Given the description of an element on the screen output the (x, y) to click on. 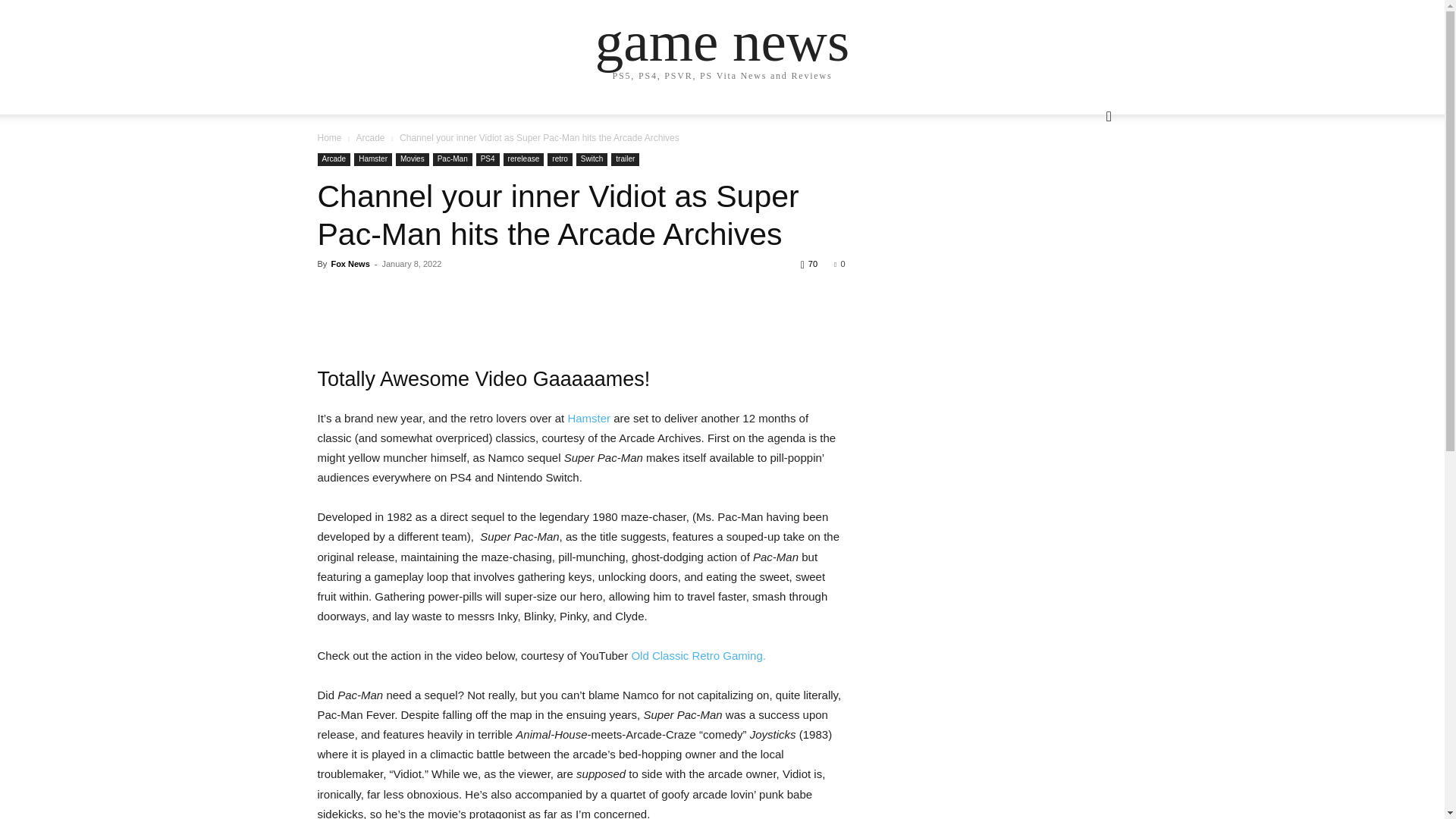
Hamster (372, 159)
trailer (625, 159)
0 (839, 263)
Fox News (349, 263)
Search (1085, 177)
retro (559, 159)
game news (721, 41)
Hamster (588, 418)
Arcade (369, 137)
PS4 (487, 159)
Arcade (333, 159)
rerelease (523, 159)
Pac-Man (451, 159)
Old Classic Retro Gaming. (697, 655)
Home (328, 137)
